Given the description of an element on the screen output the (x, y) to click on. 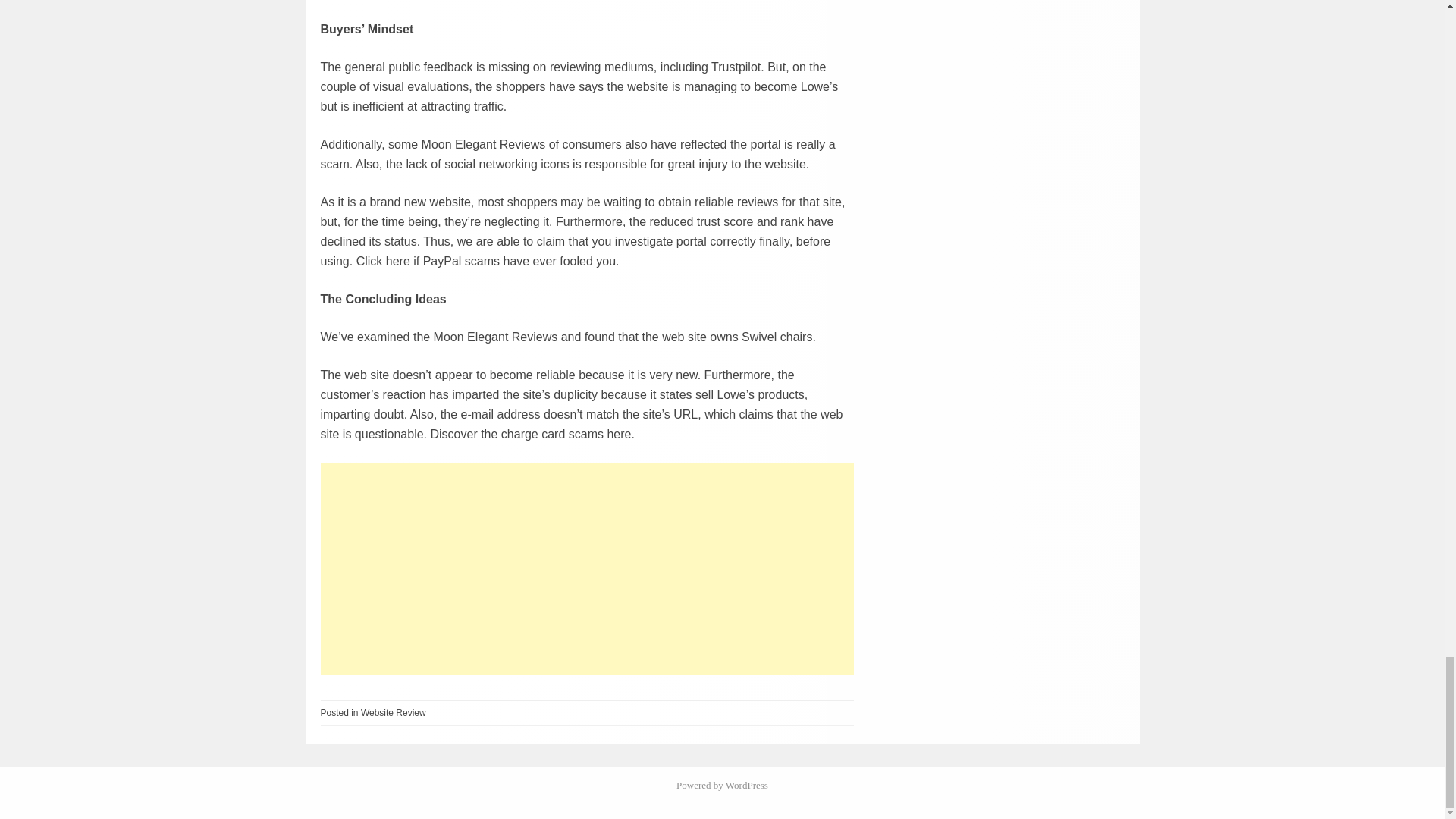
Website Review (393, 712)
